Given the description of an element on the screen output the (x, y) to click on. 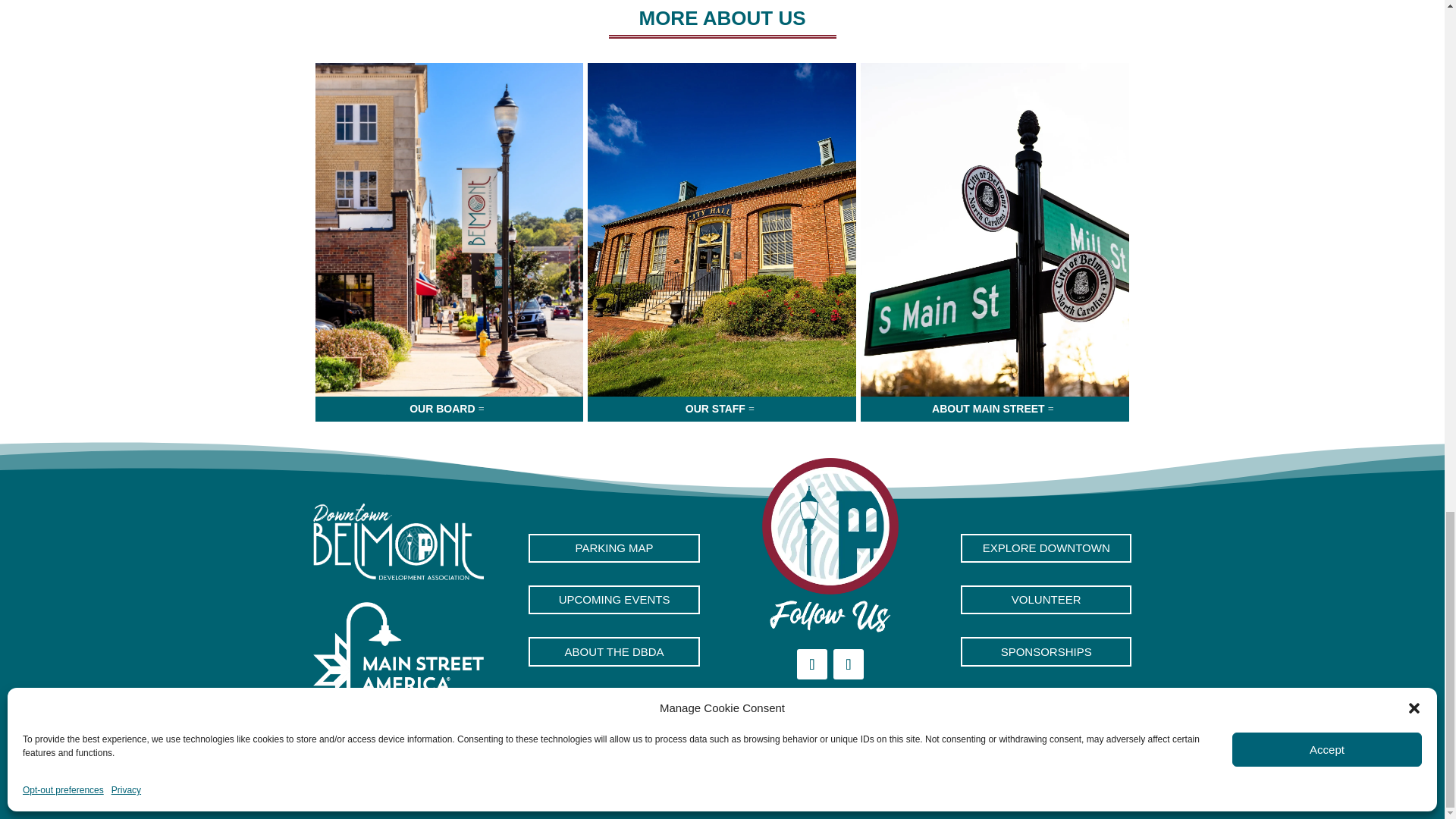
Search (1091, 775)
Follow on Instagram (847, 664)
Follow on Facebook (811, 664)
Search (1091, 775)
